Given the description of an element on the screen output the (x, y) to click on. 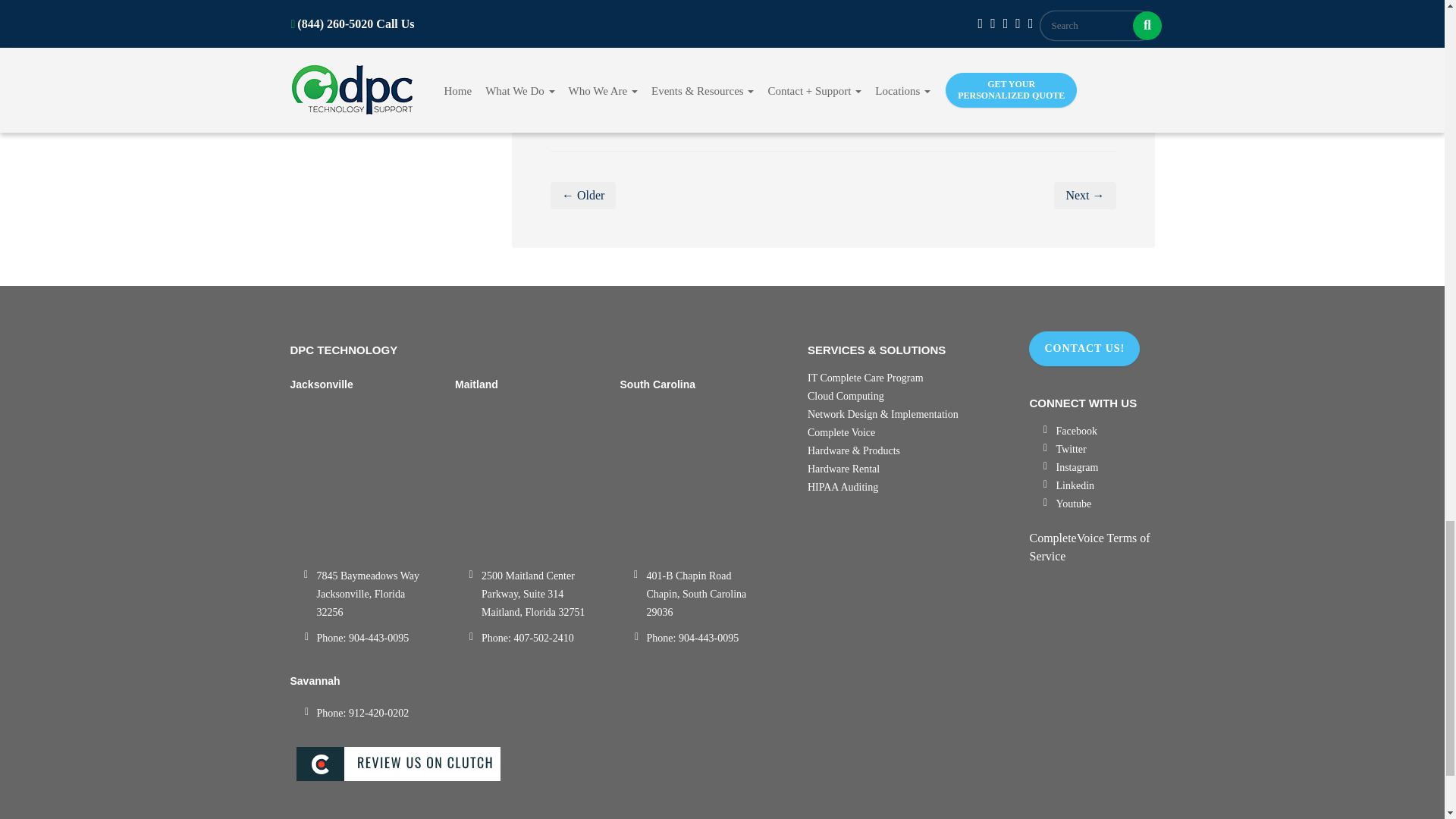
DPC Technology Clutch Review Widget 7 (536, 765)
